Given the description of an element on the screen output the (x, y) to click on. 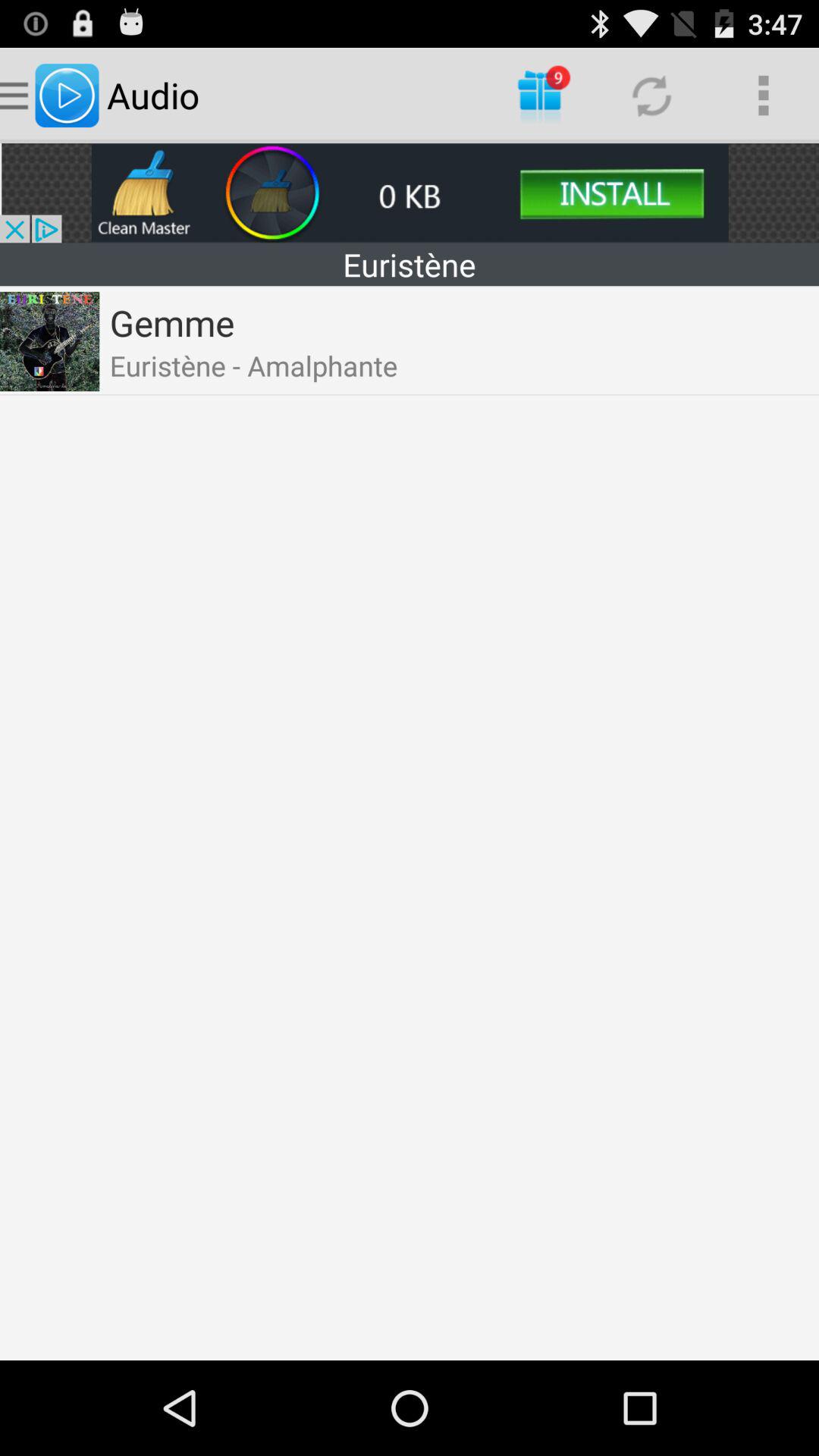
advertising (409, 192)
